Given the description of an element on the screen output the (x, y) to click on. 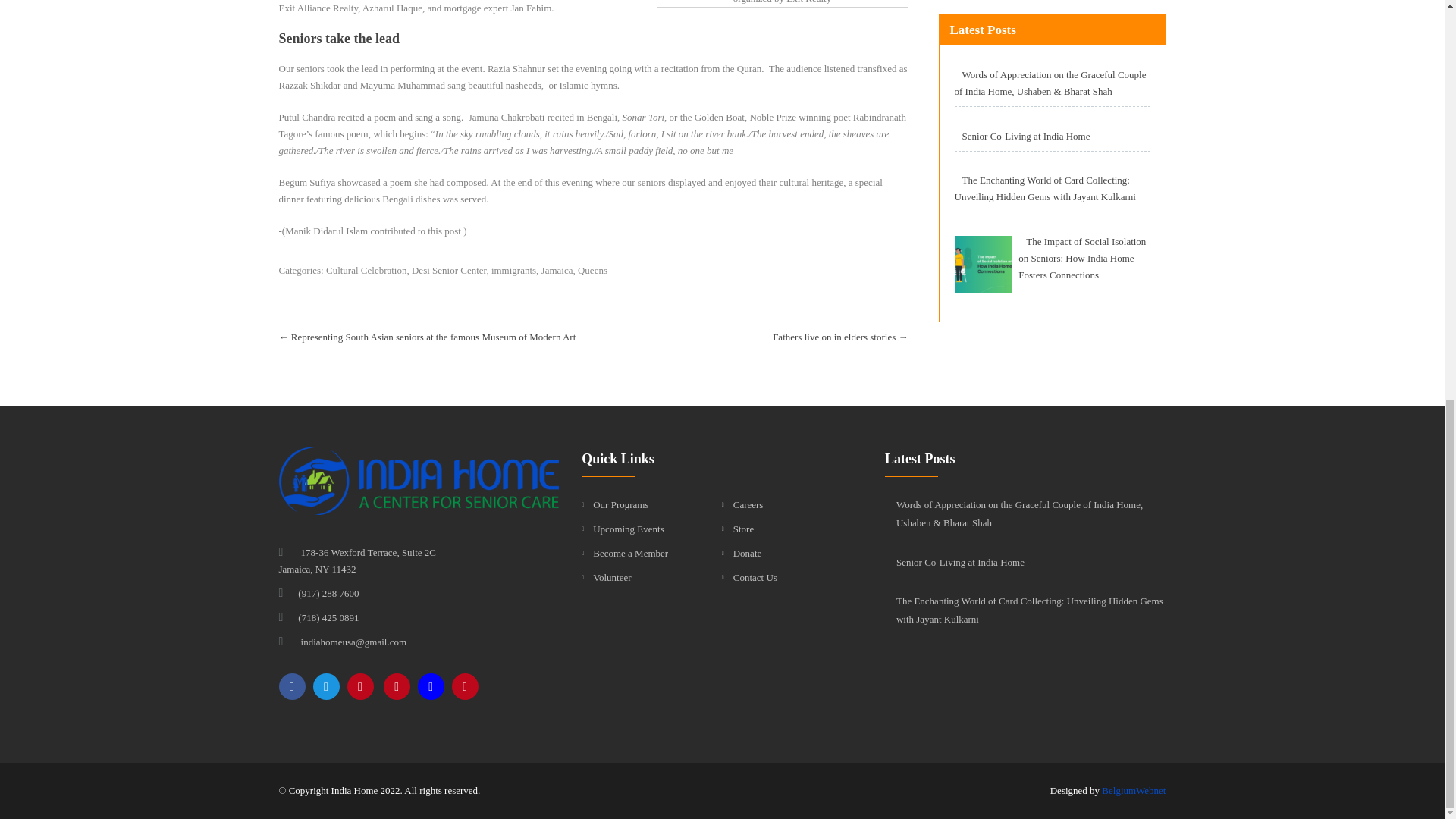
View all posts in immigrants (513, 270)
View all posts in Desi Senior Center (449, 270)
facebook (292, 686)
View all posts in Queens (592, 270)
View all posts in Jamaica (557, 270)
View all posts in Cultural Celebration (366, 270)
Desi Senior Center (449, 270)
Cultural Celebration (366, 270)
